Given the description of an element on the screen output the (x, y) to click on. 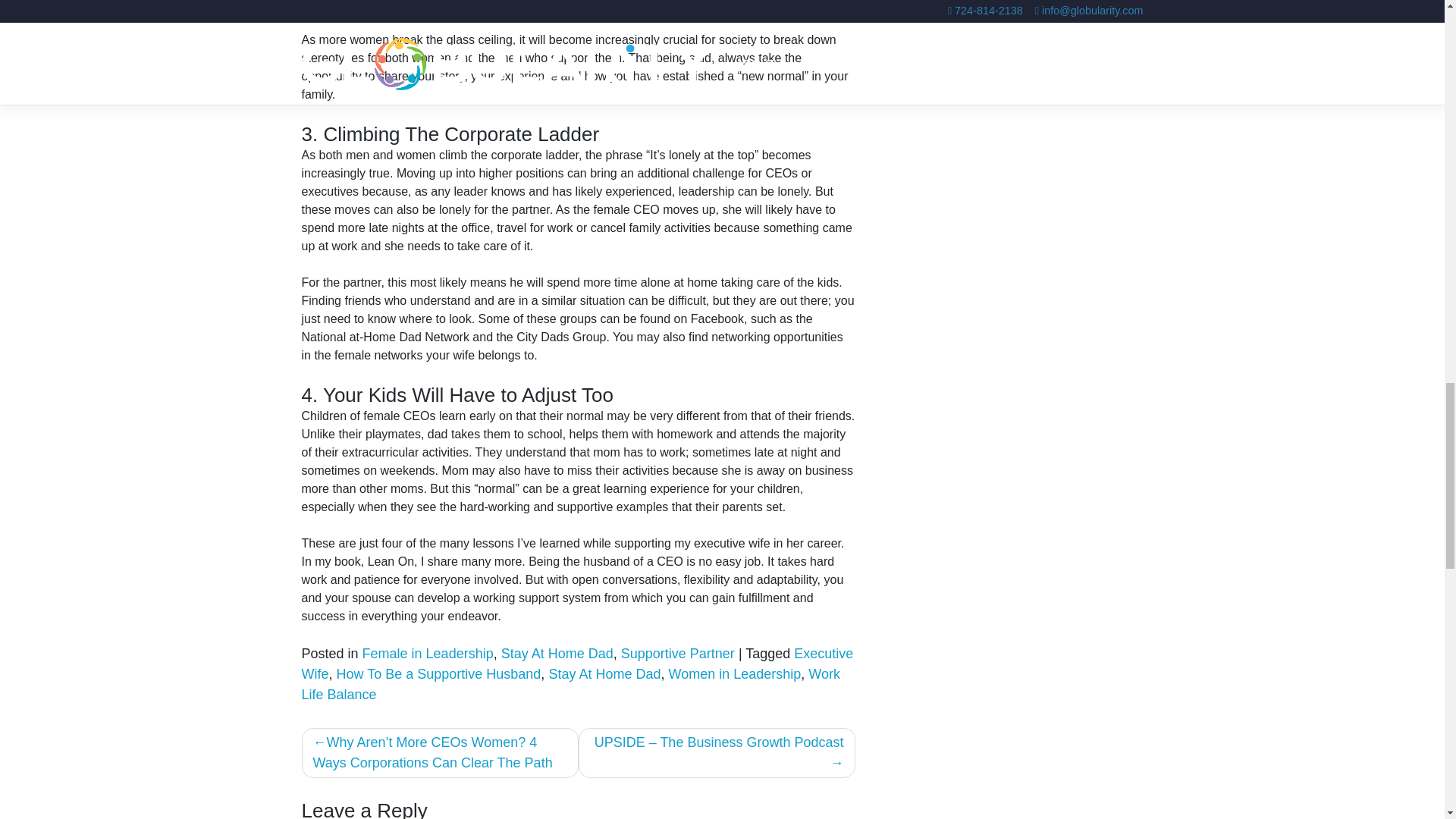
Female in Leadership (427, 653)
Executive Wife (577, 663)
How To Be a Supportive Husband (438, 673)
Stay At Home Dad (556, 653)
Work Life Balance (570, 683)
Supportive Partner (678, 653)
Women in Leadership (734, 673)
Stay At Home Dad (604, 673)
